Given the description of an element on the screen output the (x, y) to click on. 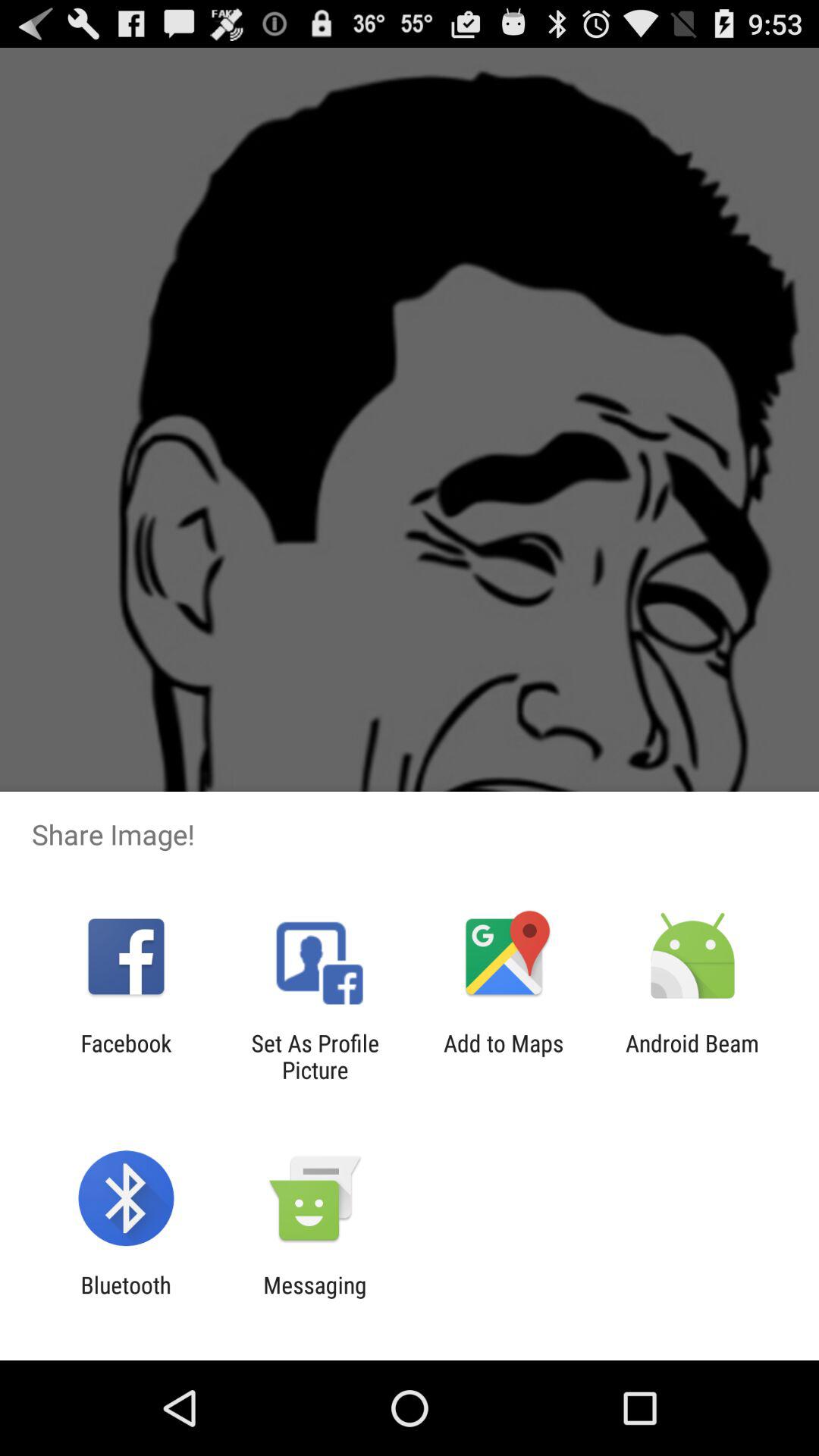
tap app to the left of set as profile (125, 1056)
